Given the description of an element on the screen output the (x, y) to click on. 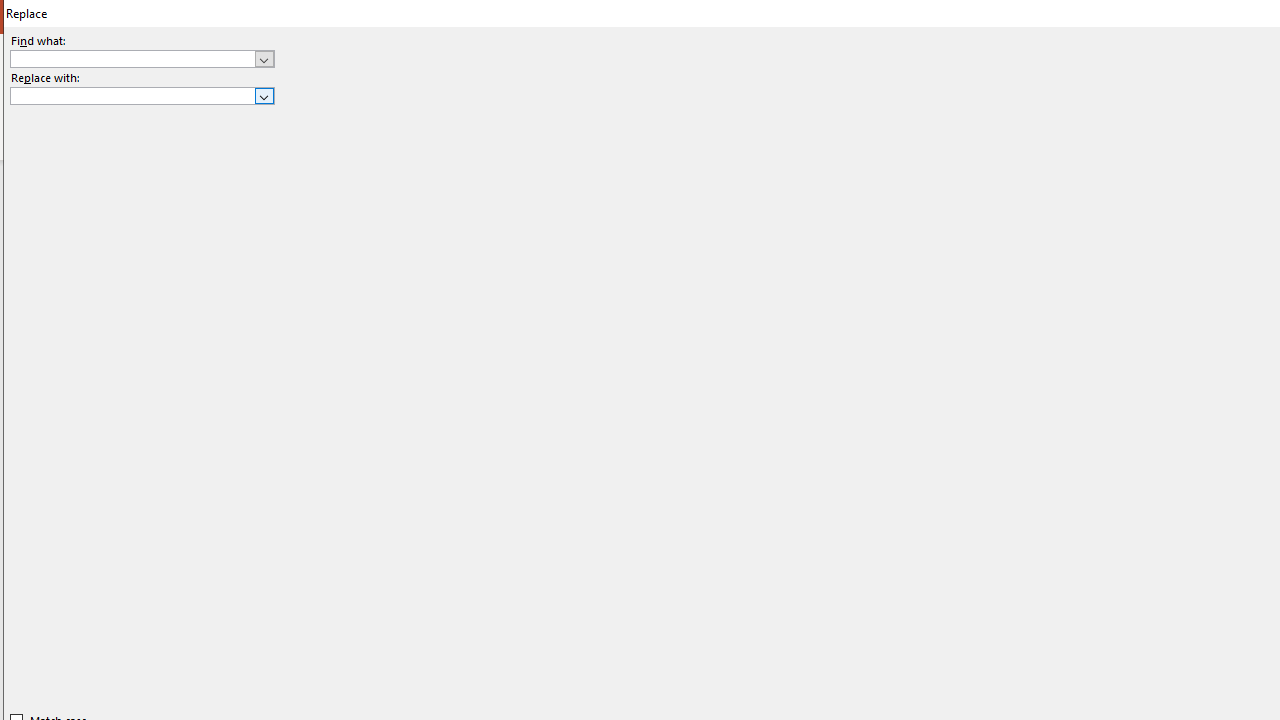
Replace with (132, 95)
Replace with (142, 96)
Find what (142, 58)
Find what (132, 58)
